Given the description of an element on the screen output the (x, y) to click on. 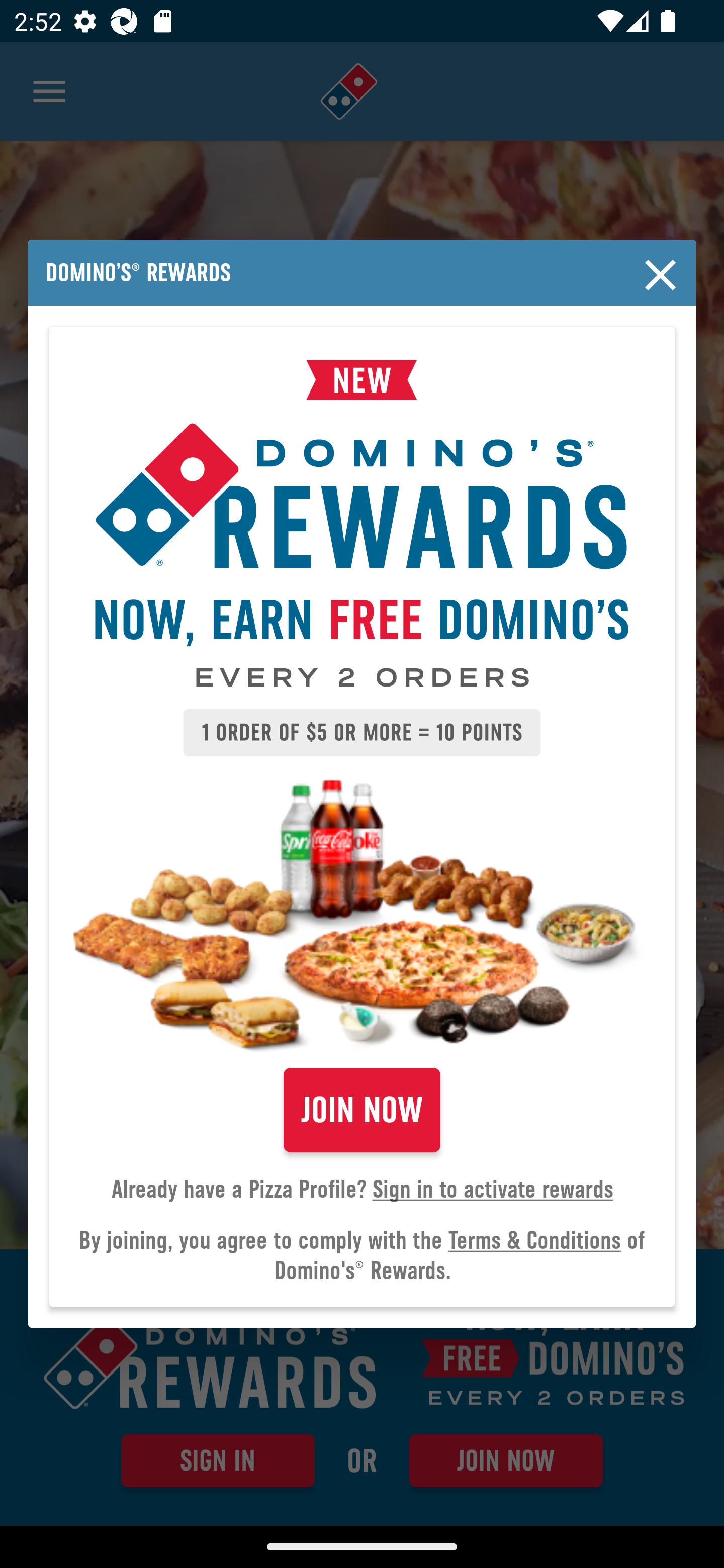
Close (660, 275)
JOIN NOW (361, 1109)
